Given the description of an element on the screen output the (x, y) to click on. 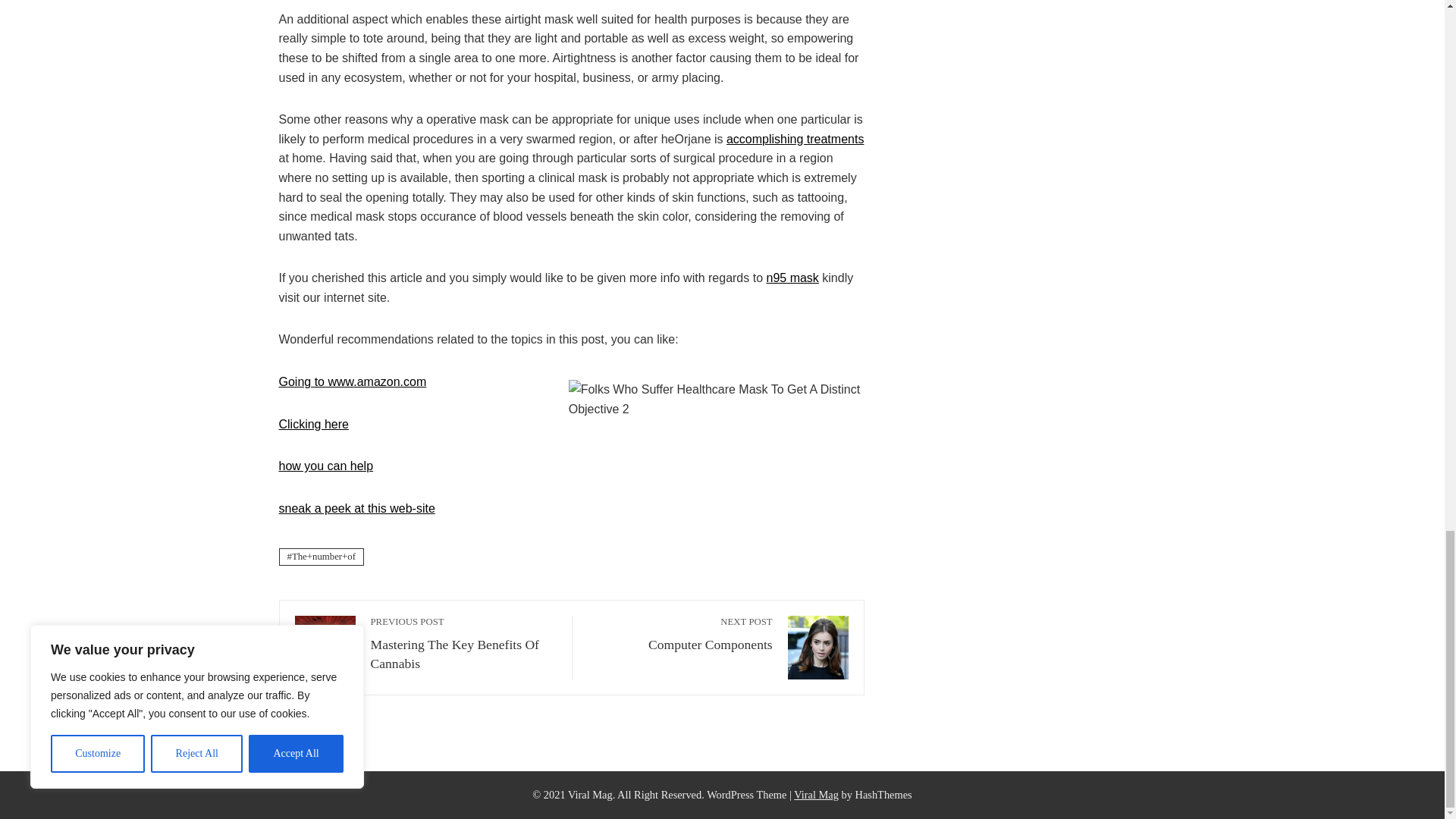
accomplishing treatments (794, 138)
Download Viral News (815, 794)
Going to www.amazon.com (352, 381)
how you can help (326, 465)
n95 mask (680, 633)
Clicking here (791, 277)
sneak a peek at this web-site (314, 423)
